Given the description of an element on the screen output the (x, y) to click on. 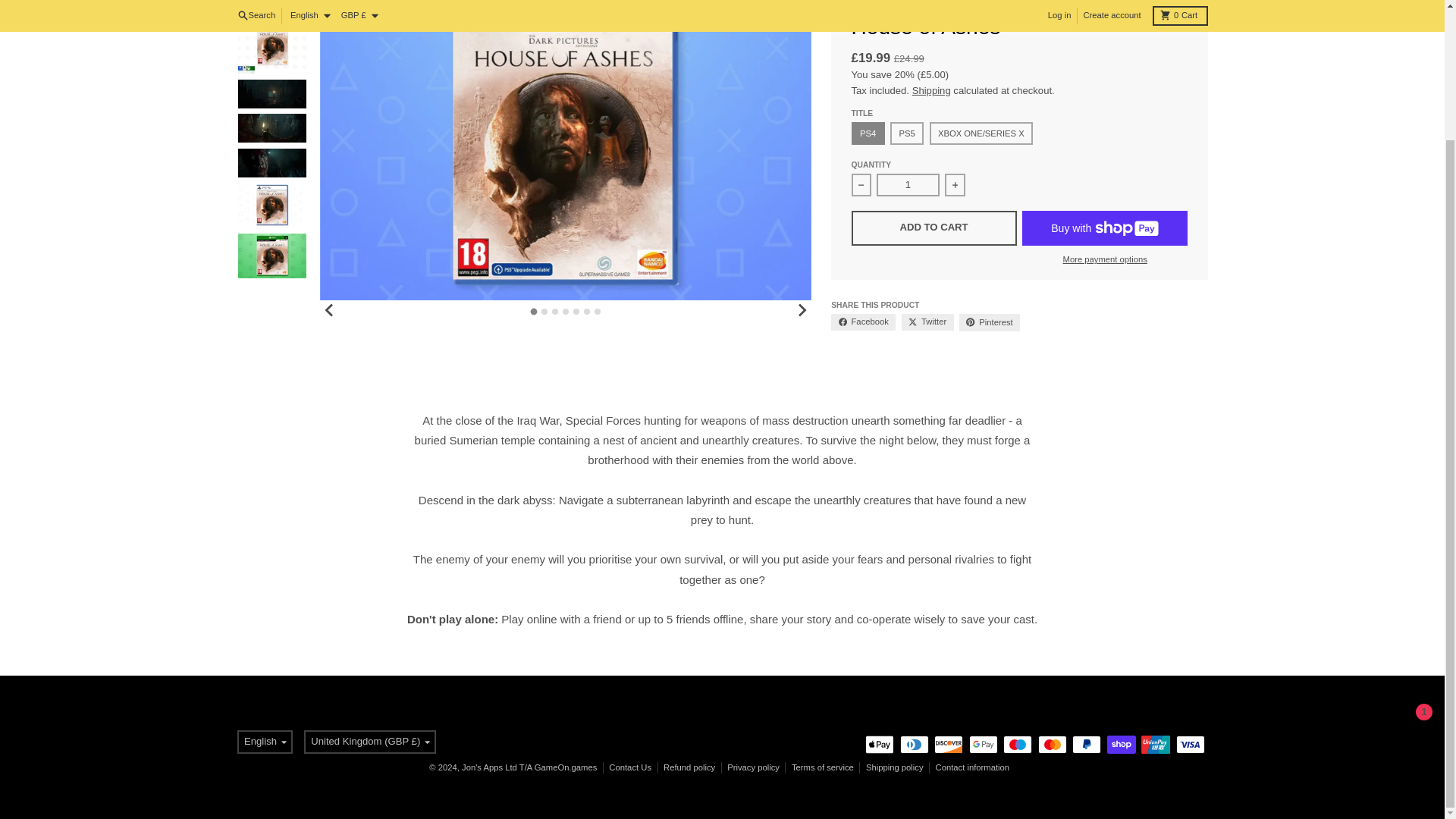
1 (907, 184)
Shopify online store chat (1404, 574)
